Given the description of an element on the screen output the (x, y) to click on. 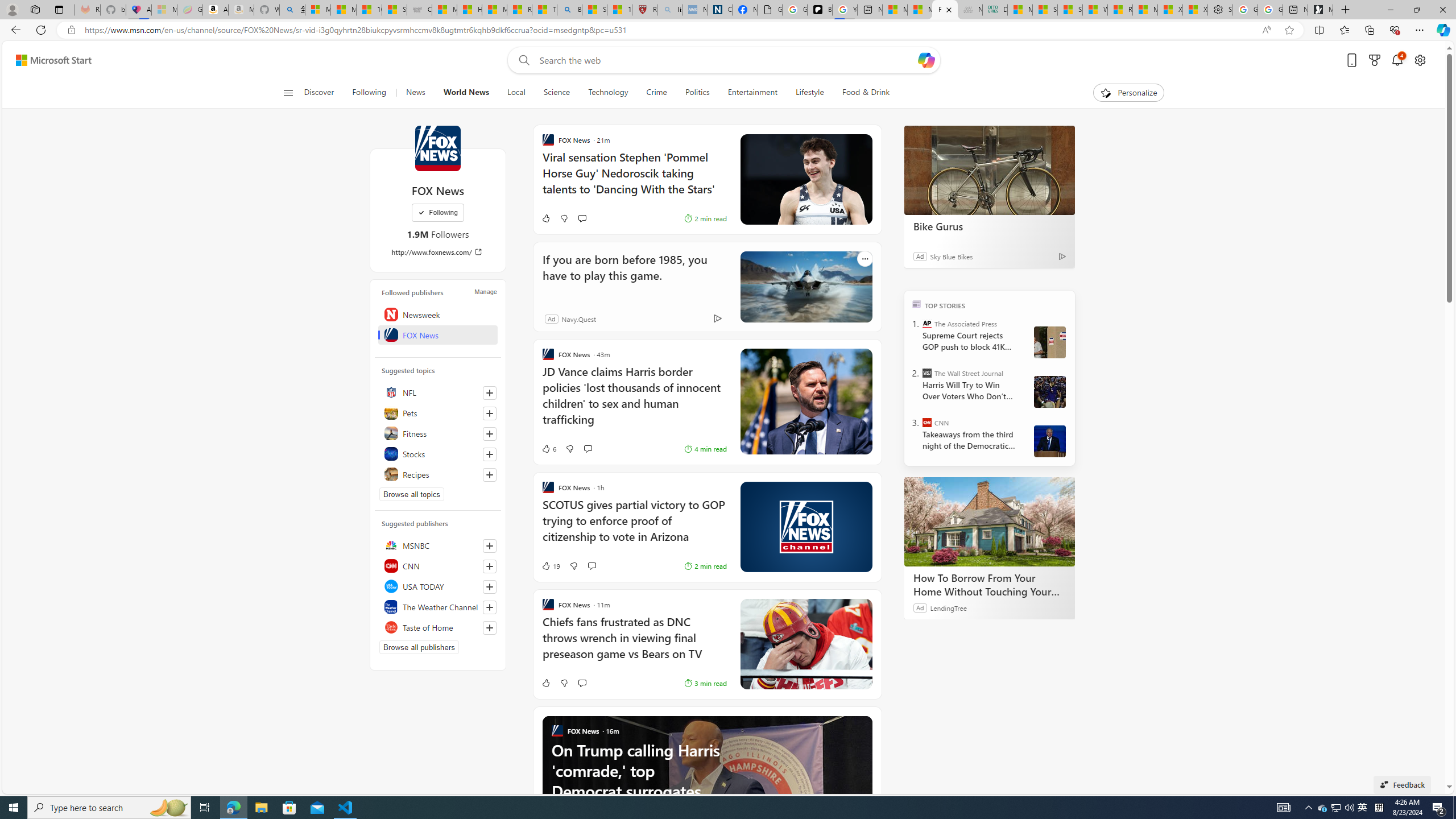
19 Like (440, 565)
